Given the description of an element on the screen output the (x, y) to click on. 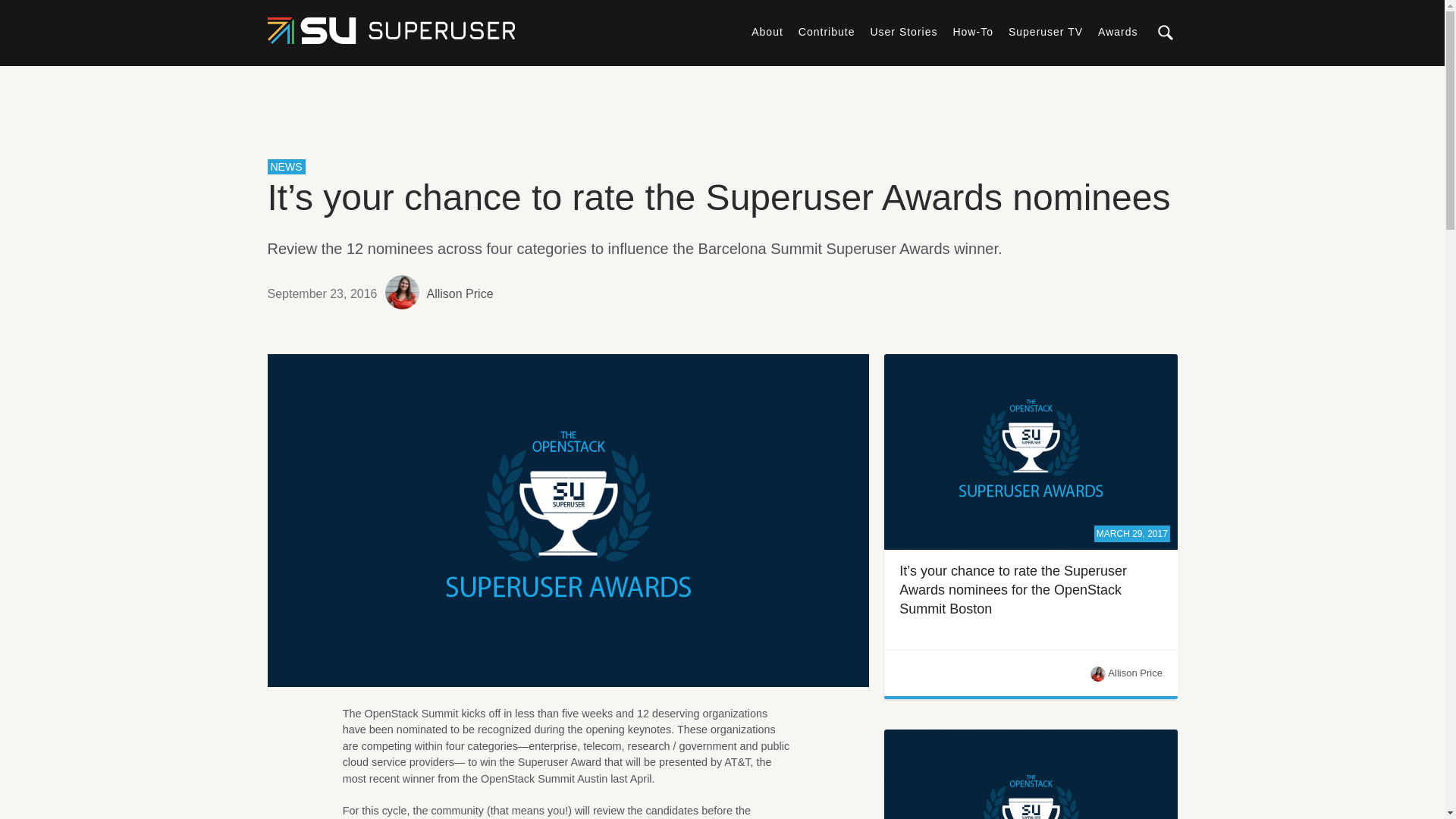
How-To (972, 31)
User Stories (903, 31)
Allison Price (459, 293)
Contribute (826, 31)
Posts by Allison Price (459, 293)
Search (1391, 79)
Awards (1117, 31)
About (767, 31)
Superuser TV (1046, 31)
